Given the description of an element on the screen output the (x, y) to click on. 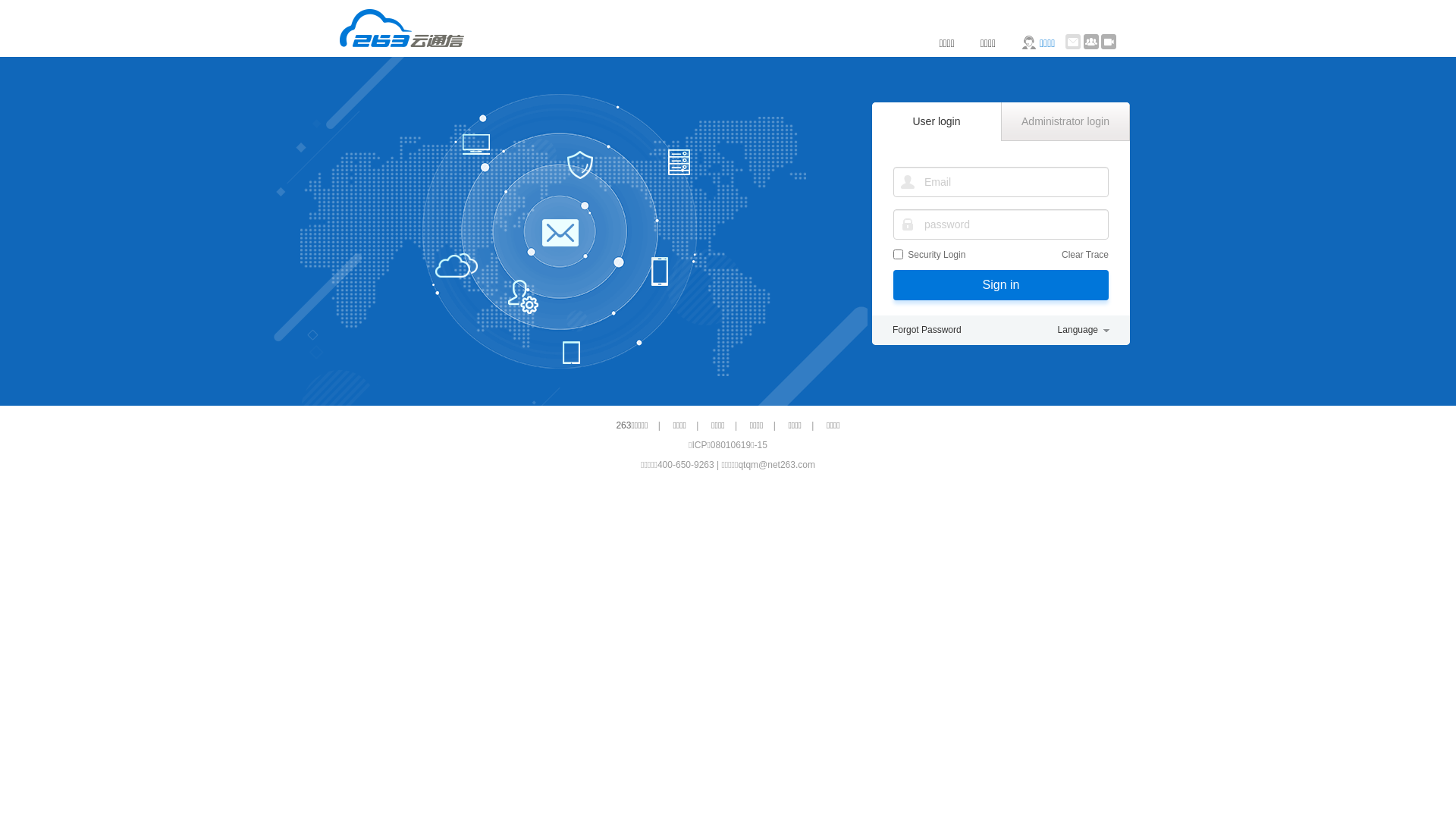
Forgot Password Element type: text (926, 330)
Administrator login Element type: text (1065, 121)
Language Element type: text (1083, 330)
User login Element type: text (936, 121)
